Given the description of an element on the screen output the (x, y) to click on. 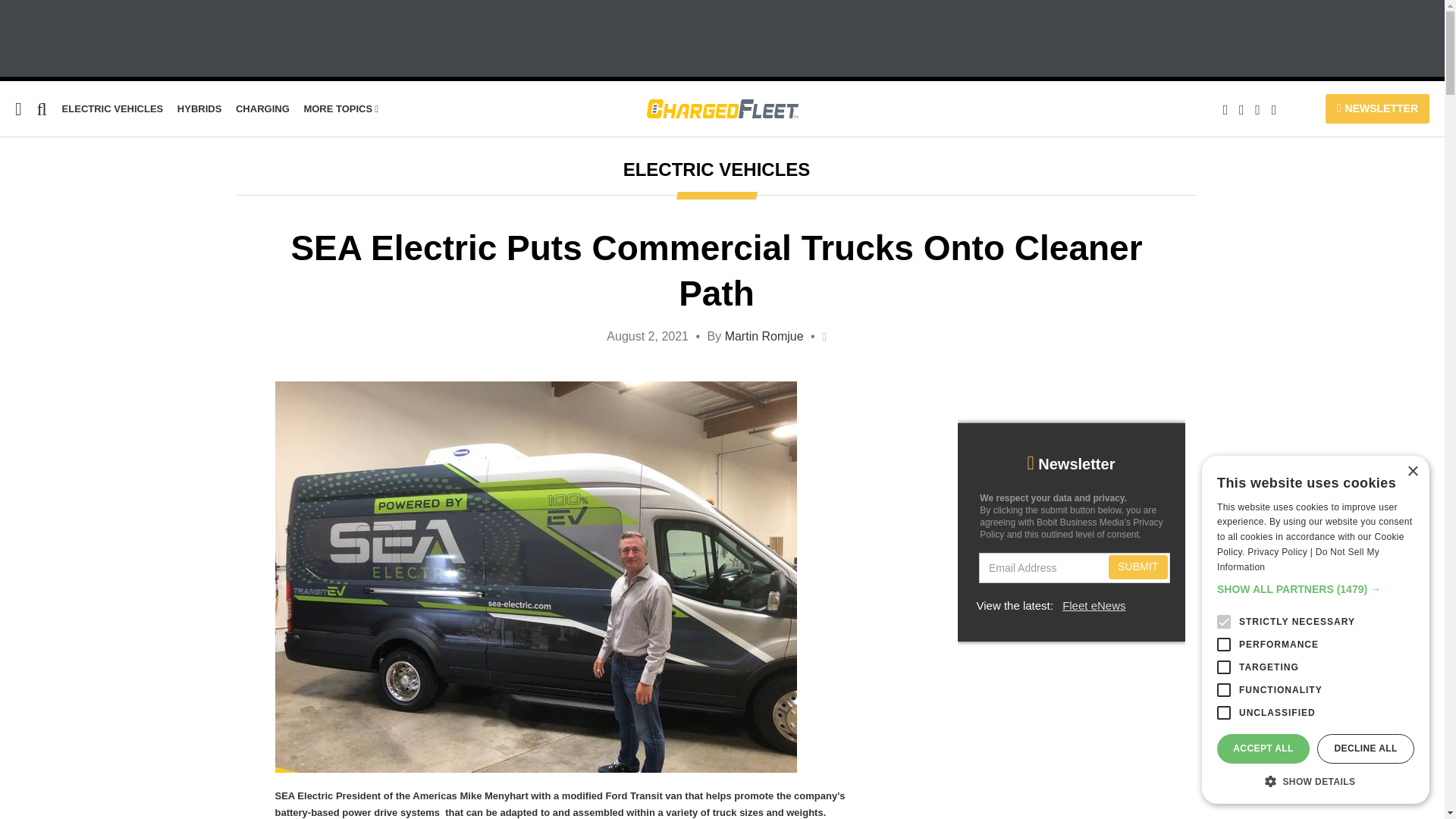
CHARGING (262, 108)
ELECTRIC VEHICLES (112, 108)
Charging (26, 236)
Suppliers (27, 264)
Electric Vehicles (48, 206)
Charging (262, 108)
HYBRIDS (199, 108)
Electric Vehicles (112, 108)
Electric Vehicles (48, 206)
Suppliers (27, 264)
Hybrids (199, 108)
Charging (26, 236)
MORE TOPICS (340, 108)
